Given the description of an element on the screen output the (x, y) to click on. 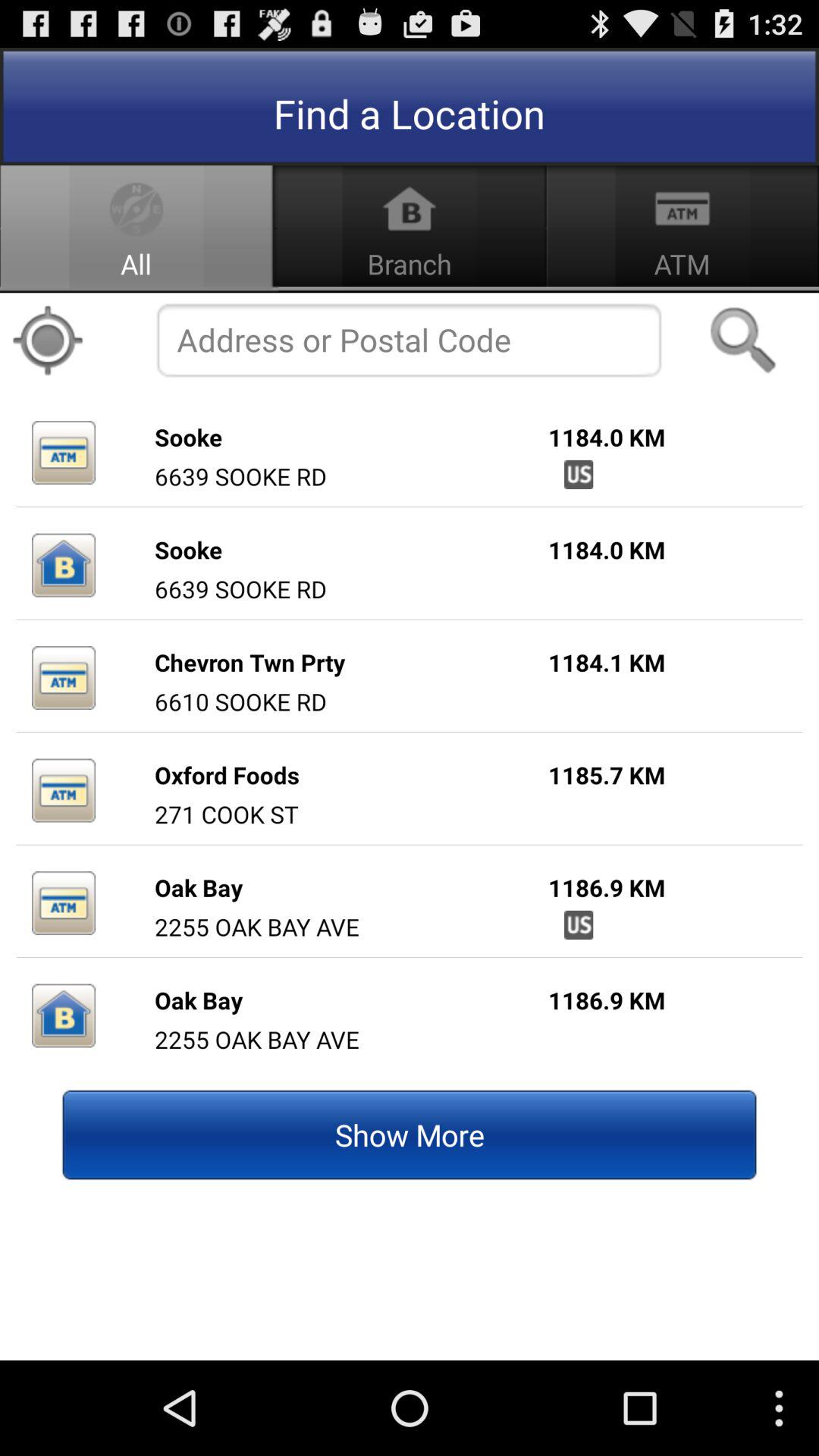
turn off the item below the 2255 oak bay (409, 1134)
